Given the description of an element on the screen output the (x, y) to click on. 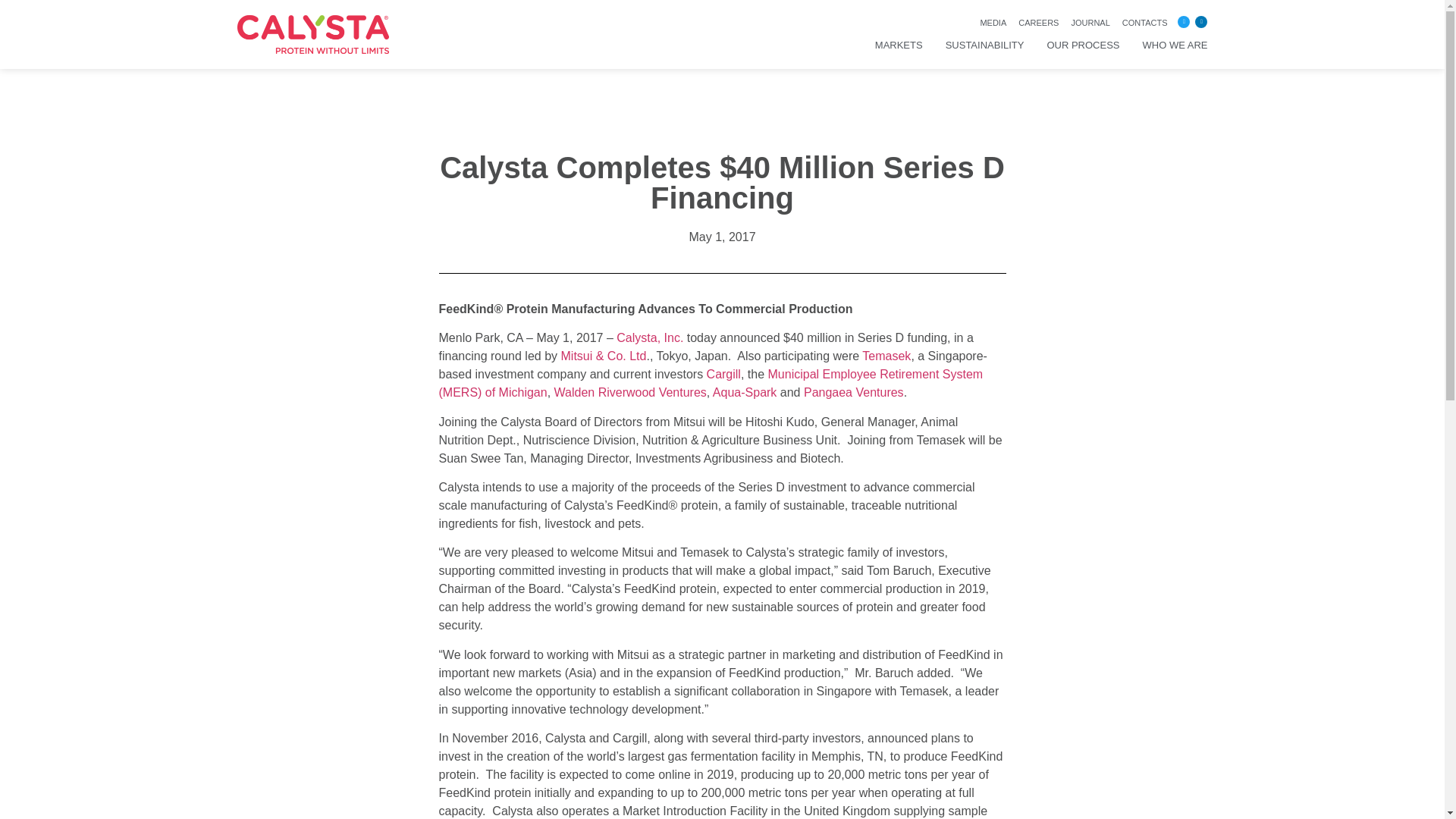
Cargill (723, 373)
OUR PROCESS (1082, 45)
Temasek (886, 355)
CAREERS (1037, 22)
WHO WE ARE (1175, 45)
Calysta, Inc. (648, 337)
MARKETS (899, 45)
JOURNAL (1089, 22)
SUSTAINABILITY (984, 45)
MEDIA (992, 22)
